Given the description of an element on the screen output the (x, y) to click on. 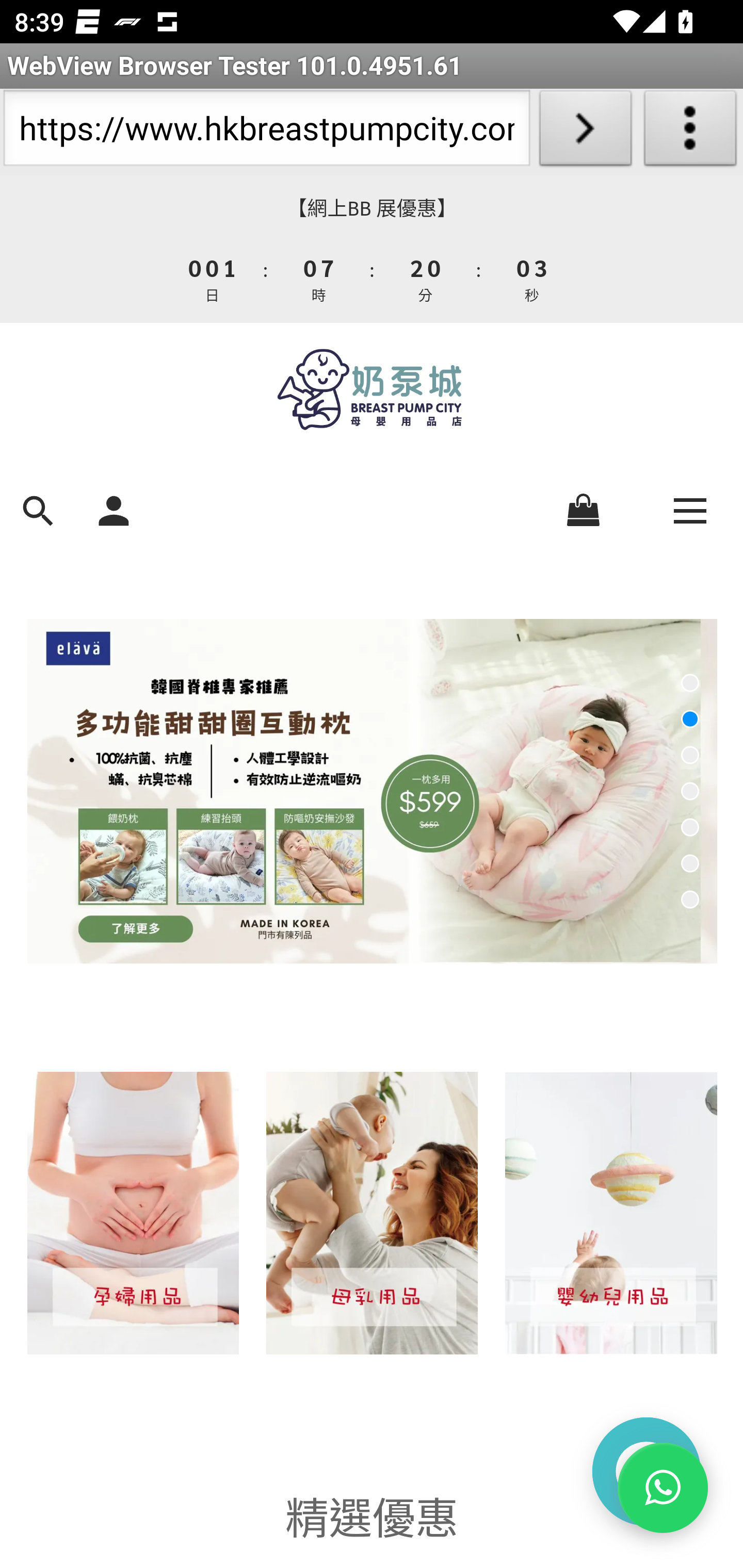
Load URL (585, 132)
About WebView (690, 132)
【網上BB 展優惠】 (371, 208)
594x (371, 389)
sign_in (113, 508)
精選優惠 (371, 1514)
